Given the description of an element on the screen output the (x, y) to click on. 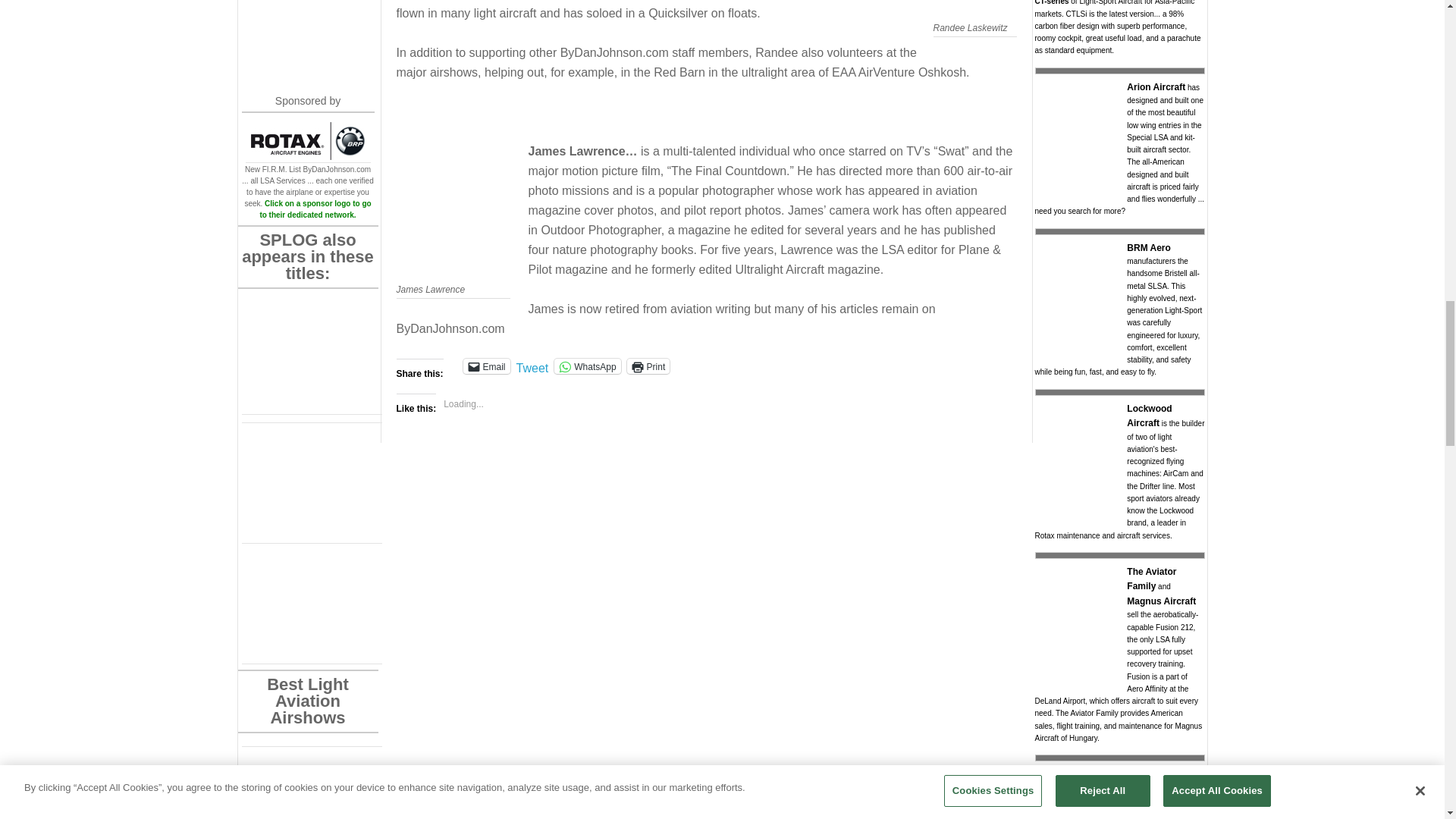
Click to email a link to a friend (487, 365)
Click to share on WhatsApp (587, 365)
Click to print (648, 365)
Tweet (532, 365)
Email (487, 365)
Print (648, 365)
WhatsApp (587, 365)
